Given the description of an element on the screen output the (x, y) to click on. 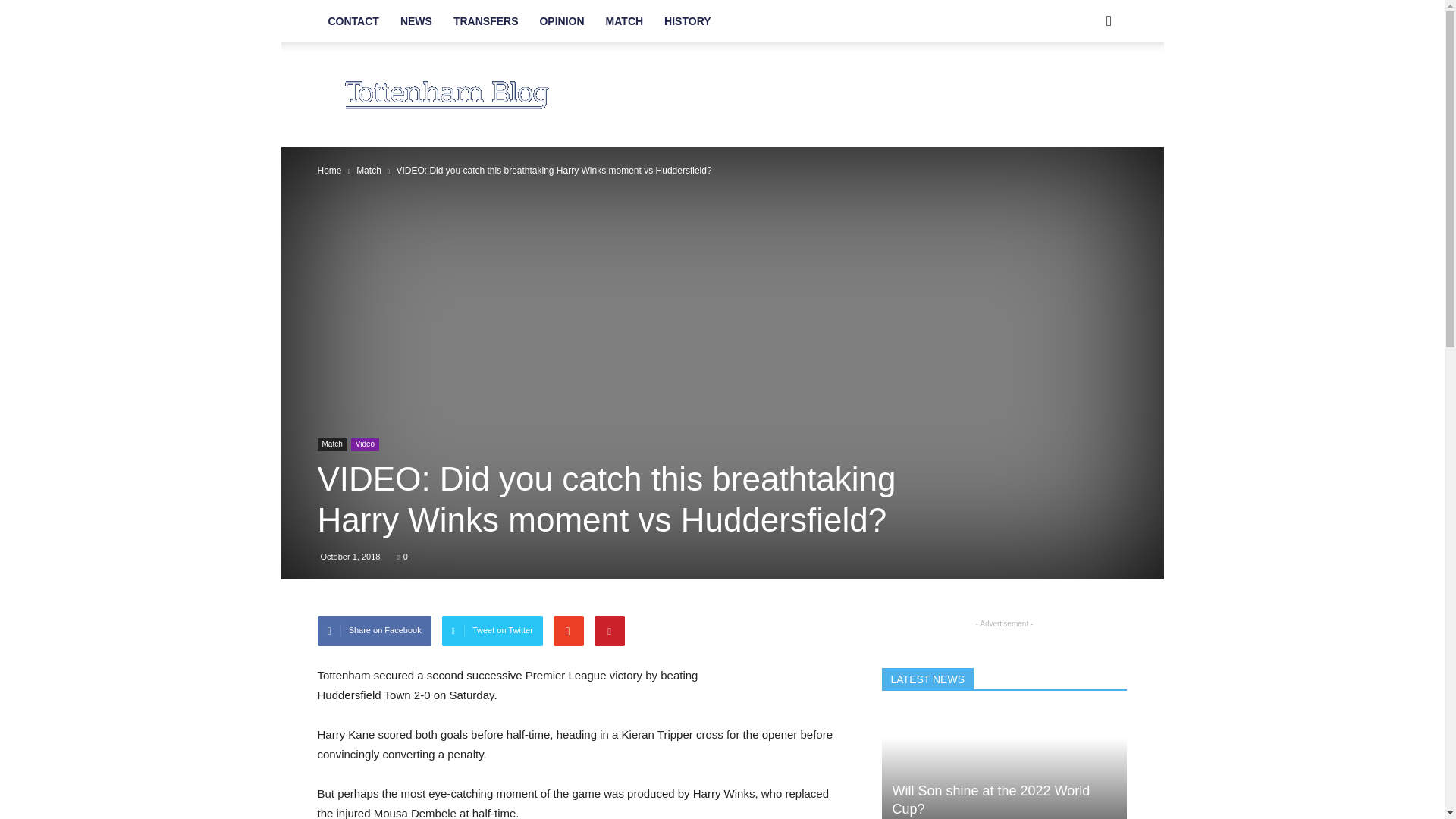
View all posts in Match (368, 170)
Tweet on Twitter (492, 630)
Home (328, 170)
Match (331, 444)
Match (368, 170)
Share on Facebook (373, 630)
NEWS (416, 21)
CONTACT (352, 21)
Will Son shine at the 2022 World Cup? (990, 799)
OPINION (561, 21)
